Given the description of an element on the screen output the (x, y) to click on. 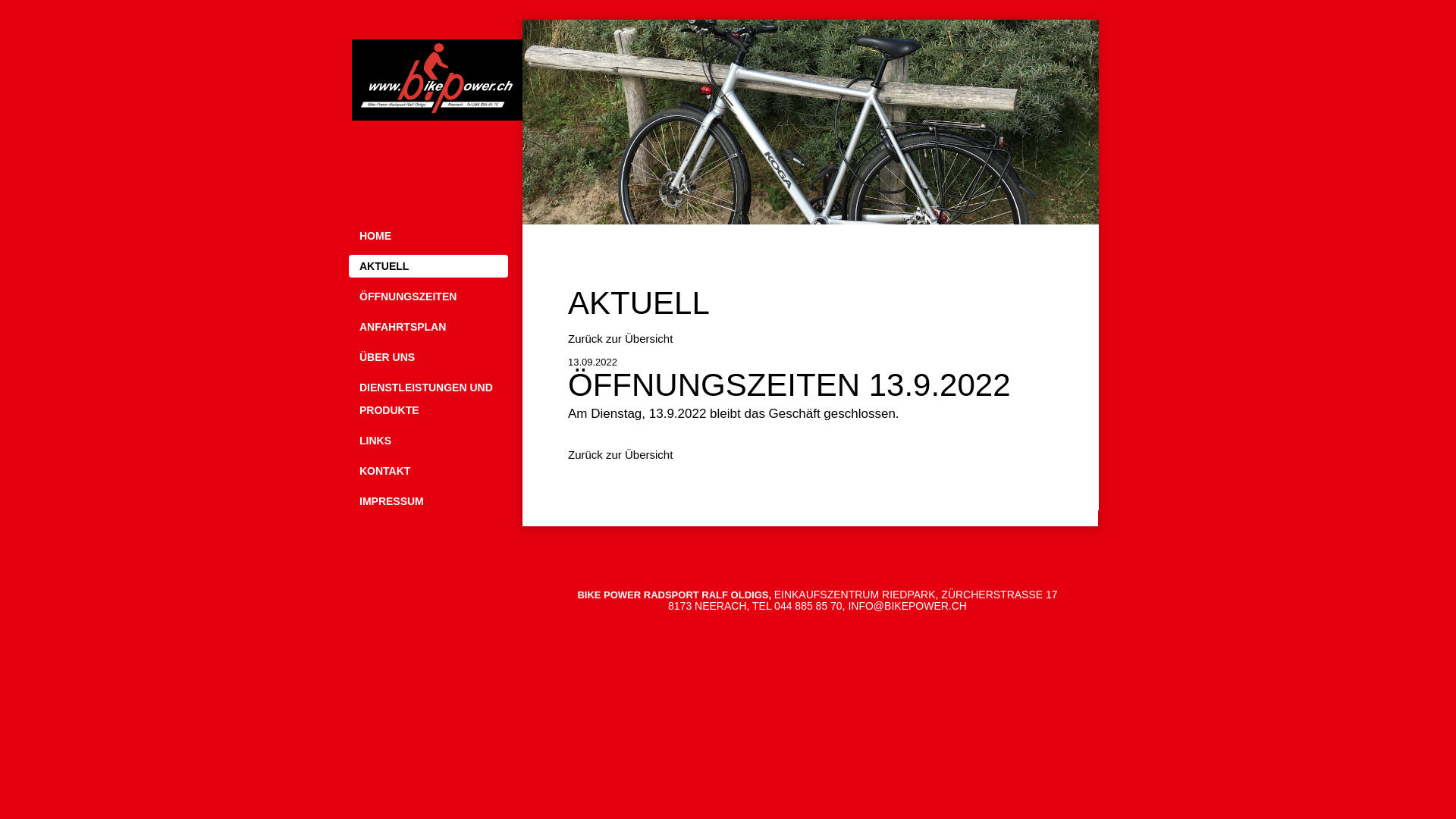
DIENSTLEISTUNGEN UND PRODUKTE Element type: text (428, 398)
ANFAHRTSPLAN Element type: text (428, 326)
KONTAKT Element type: text (428, 470)
AKTUELL Element type: text (428, 265)
IMPRESSUM Element type: text (428, 500)
HOME Element type: text (428, 235)
INFO@BIKEPOWER.CH Element type: text (906, 605)
LINKS Element type: text (428, 440)
